Given the description of an element on the screen output the (x, y) to click on. 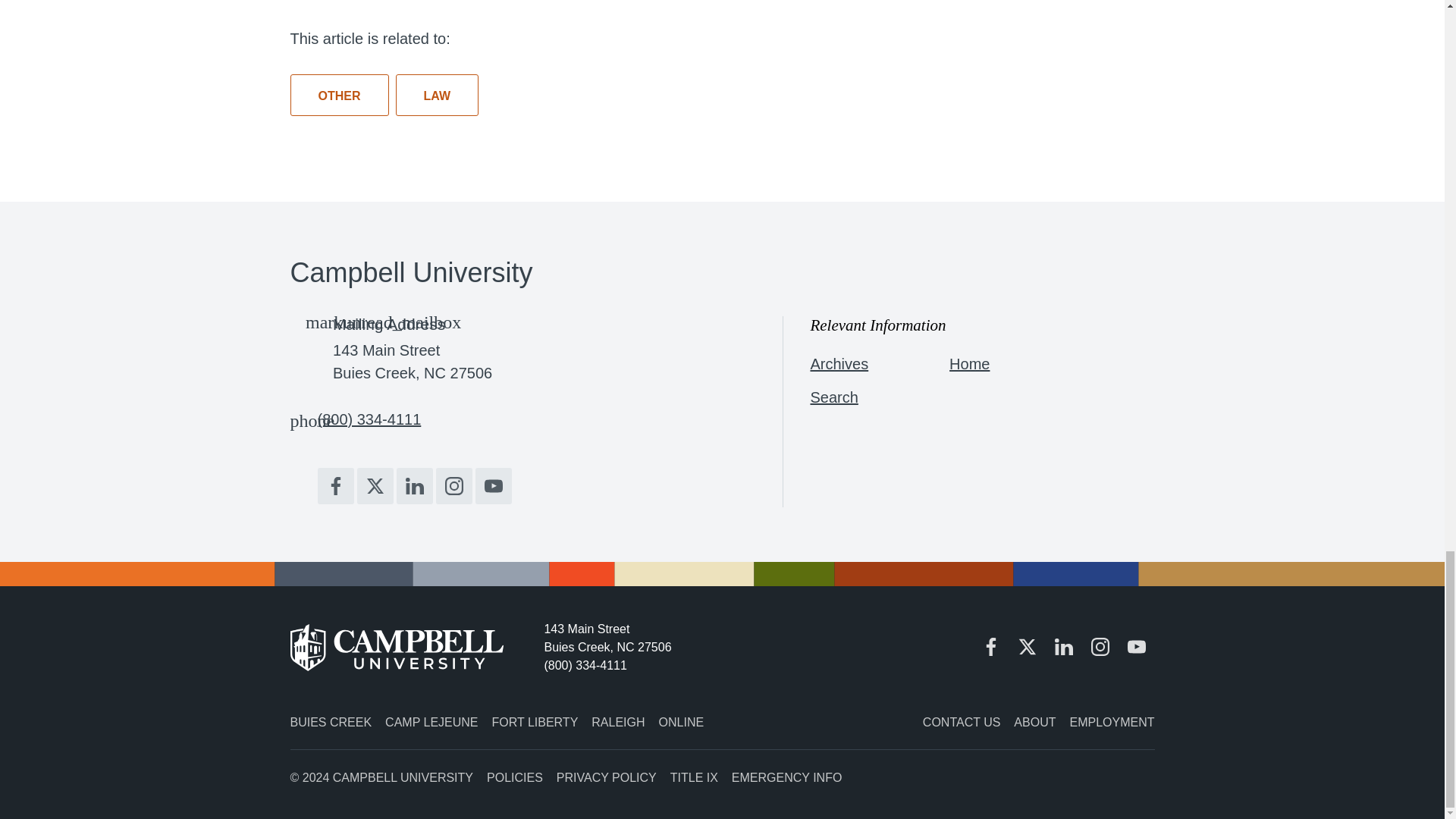
LAW (437, 95)
Follow Campbell University on Facebook (335, 485)
Follow Campbell University on Youtube (492, 485)
Follow Campbell University on LinkedIn (414, 485)
Follow Campbell University on Instagram (453, 485)
OTHER (338, 95)
Follow Campbell University on Twitter (374, 485)
